Given the description of an element on the screen output the (x, y) to click on. 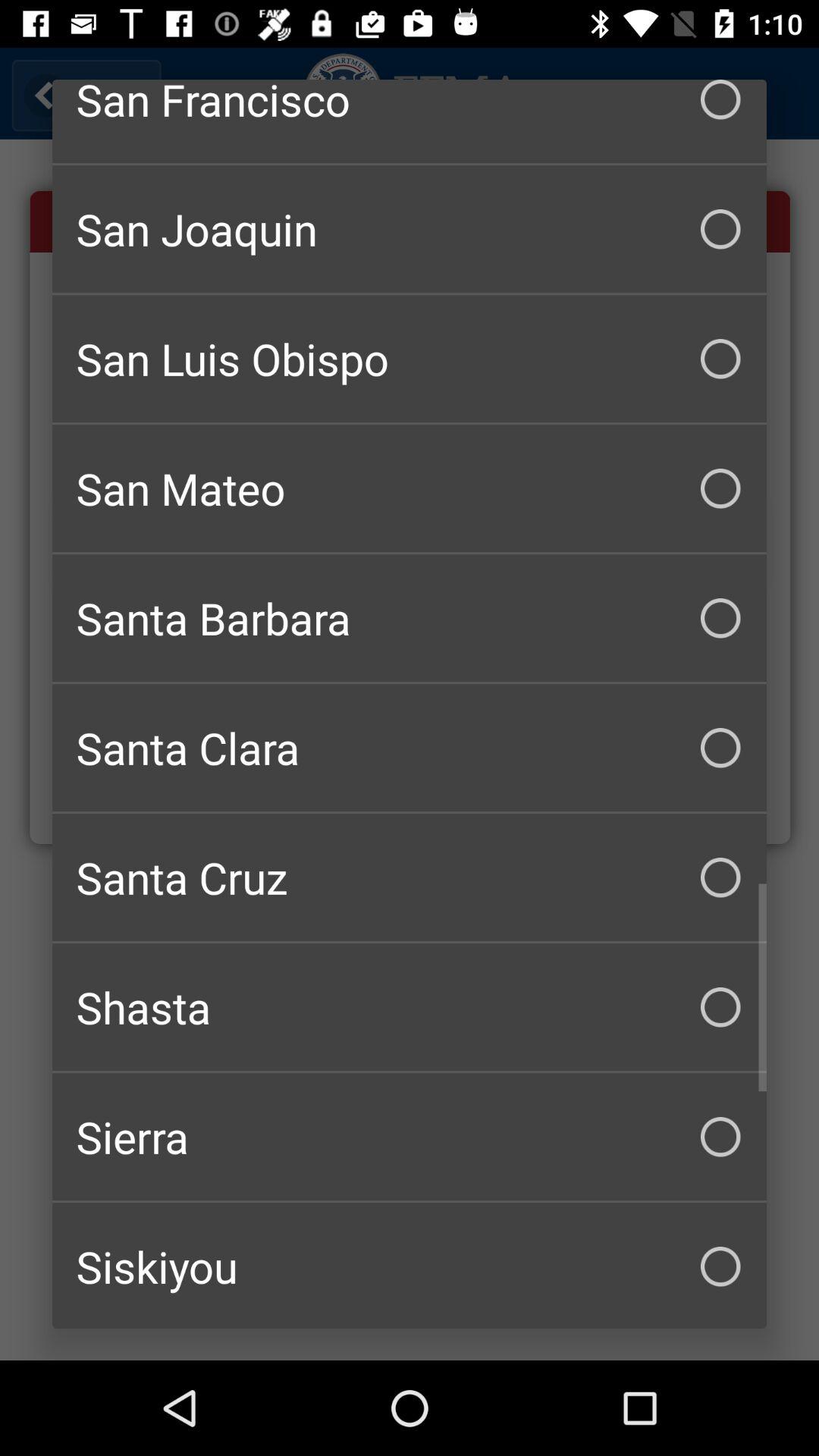
flip until santa barbara item (409, 617)
